Given the description of an element on the screen output the (x, y) to click on. 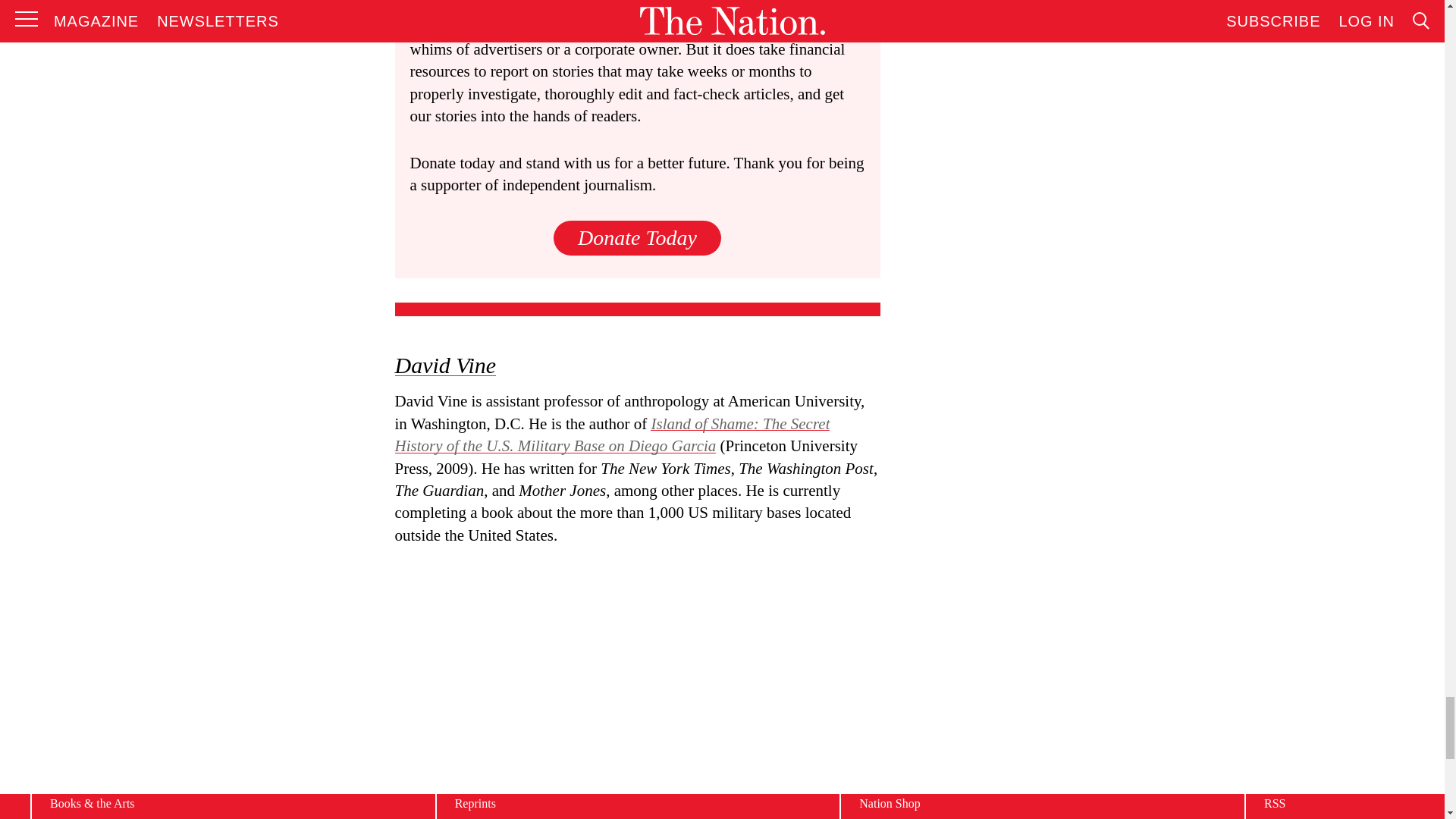
Donate Today (636, 237)
